Given the description of an element on the screen output the (x, y) to click on. 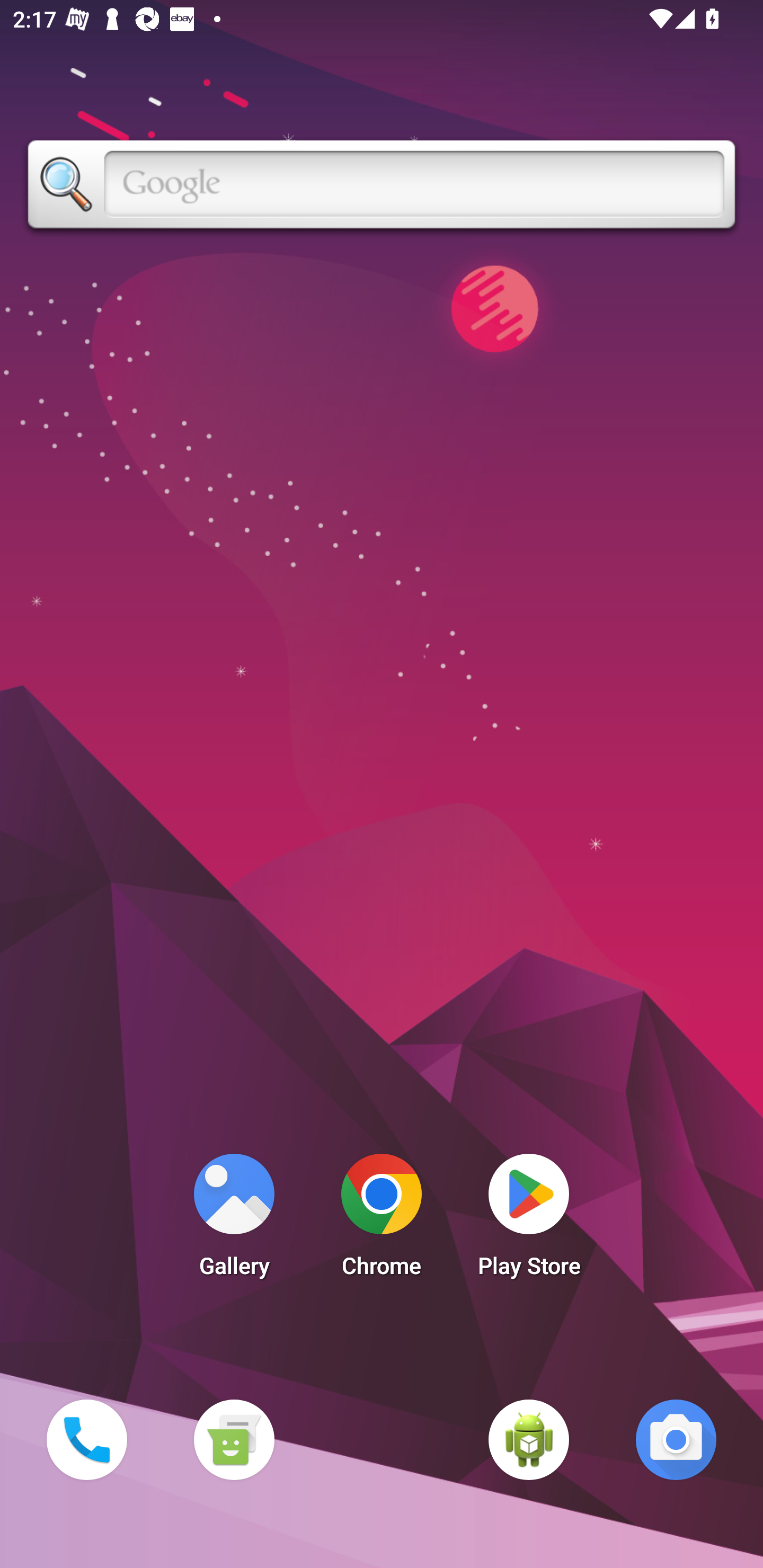
Gallery (233, 1220)
Chrome (381, 1220)
Play Store (528, 1220)
Phone (86, 1439)
Messaging (233, 1439)
WebView Browser Tester (528, 1439)
Camera (676, 1439)
